Given the description of an element on the screen output the (x, y) to click on. 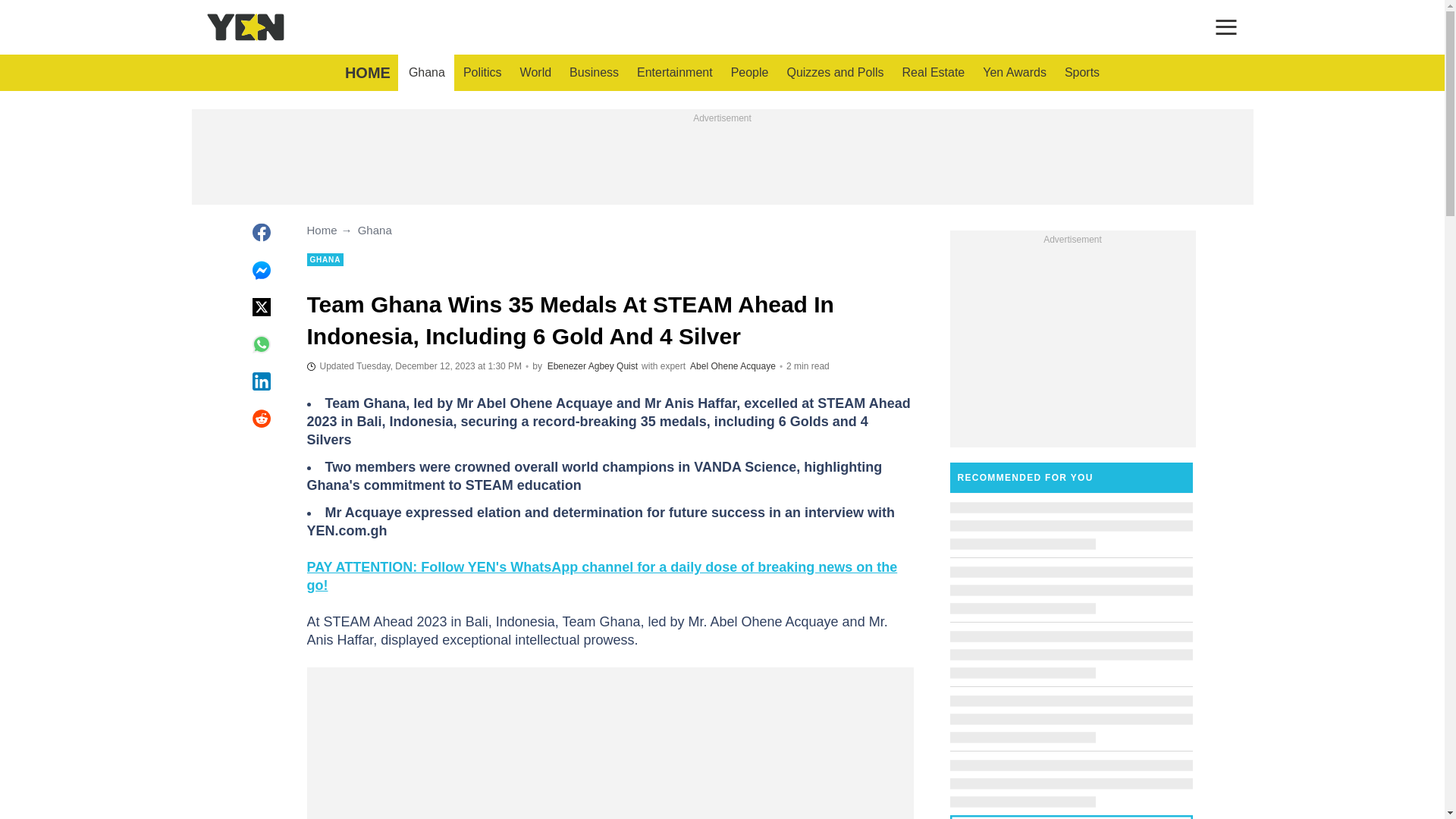
World (535, 72)
Expert page (733, 366)
HOME (367, 72)
Author page (592, 366)
Quizzes and Polls (834, 72)
Real Estate (933, 72)
People (749, 72)
Politics (482, 72)
Ghana (426, 72)
Business (593, 72)
